Given the description of an element on the screen output the (x, y) to click on. 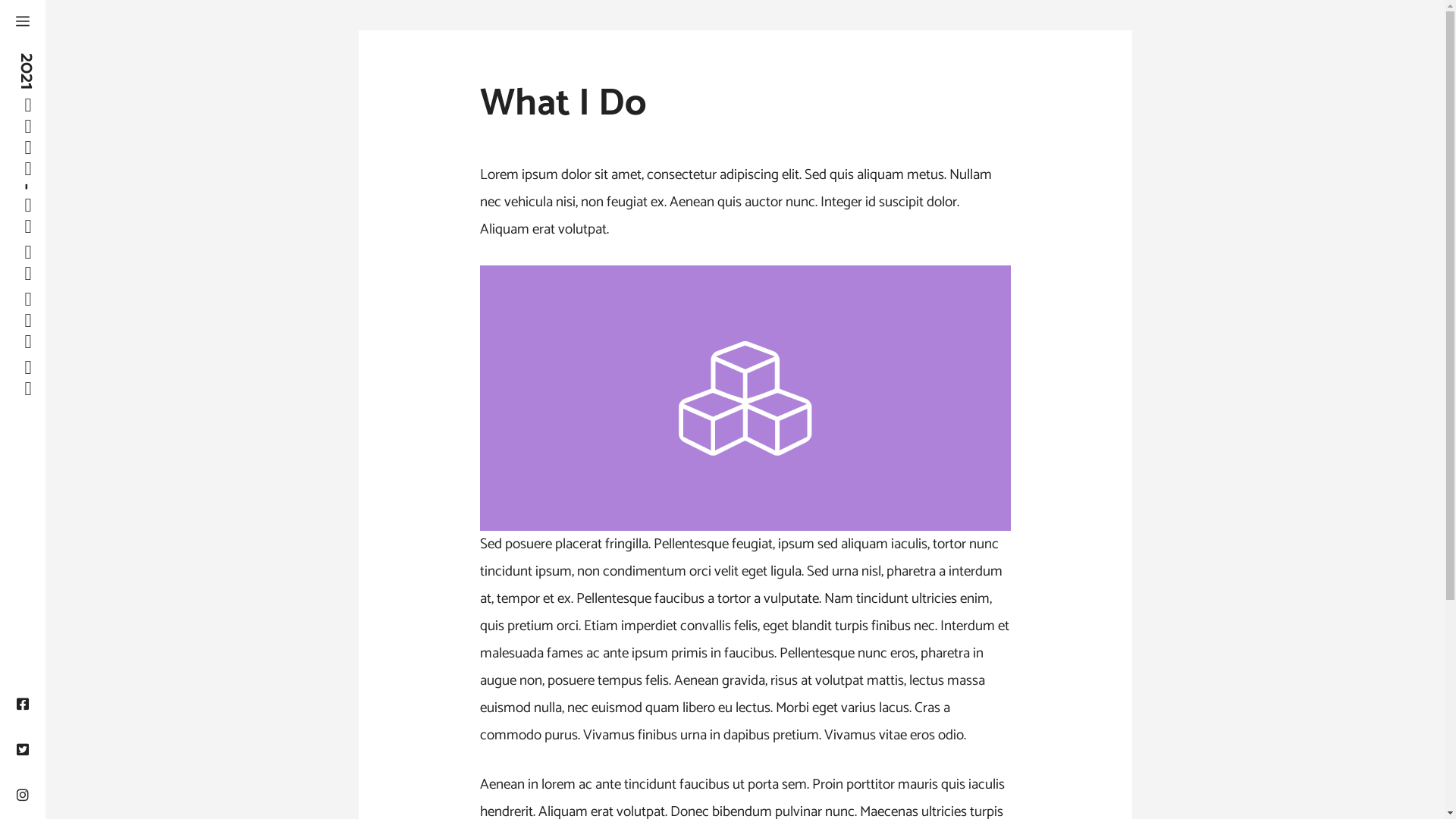
Facebook Element type: text (22, 705)
Twitter Element type: text (22, 750)
